Given the description of an element on the screen output the (x, y) to click on. 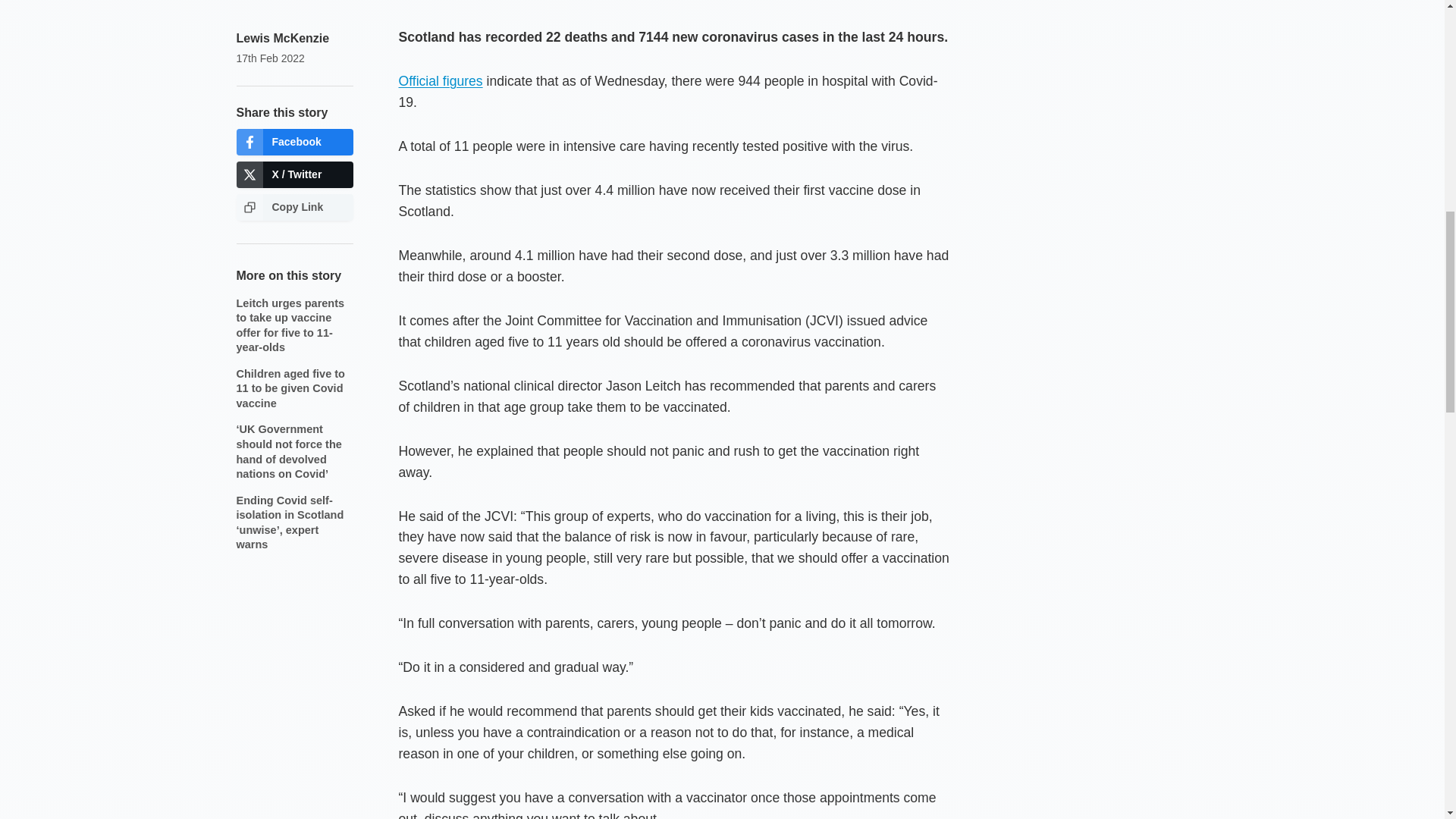
Facebook (294, 141)
Lewis McKenzie (282, 38)
